Given the description of an element on the screen output the (x, y) to click on. 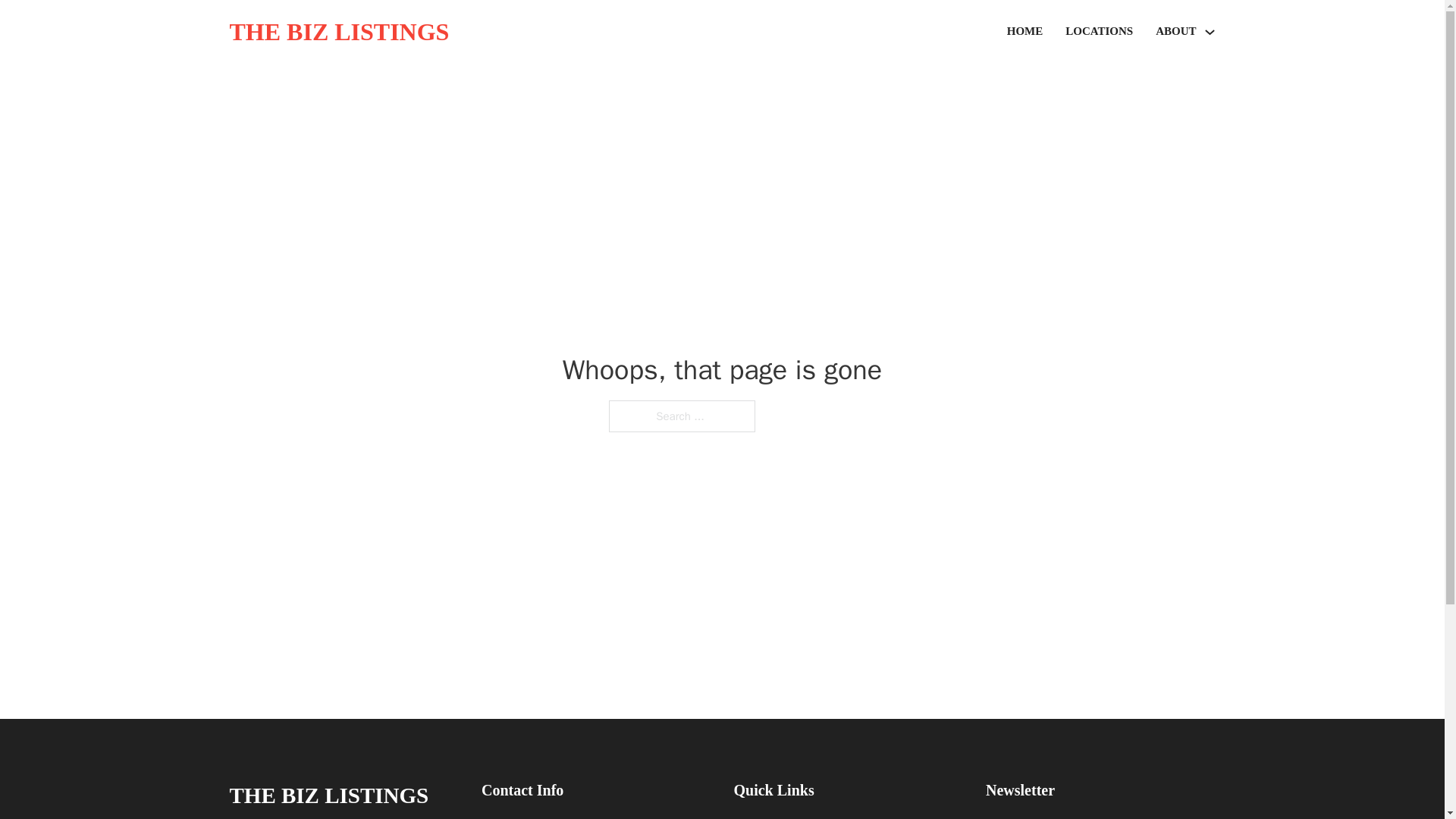
THE BIZ LISTINGS (328, 795)
LOCATIONS (1098, 31)
THE BIZ LISTINGS (338, 31)
ABOUT (1175, 31)
HOME (1025, 31)
